Given the description of an element on the screen output the (x, y) to click on. 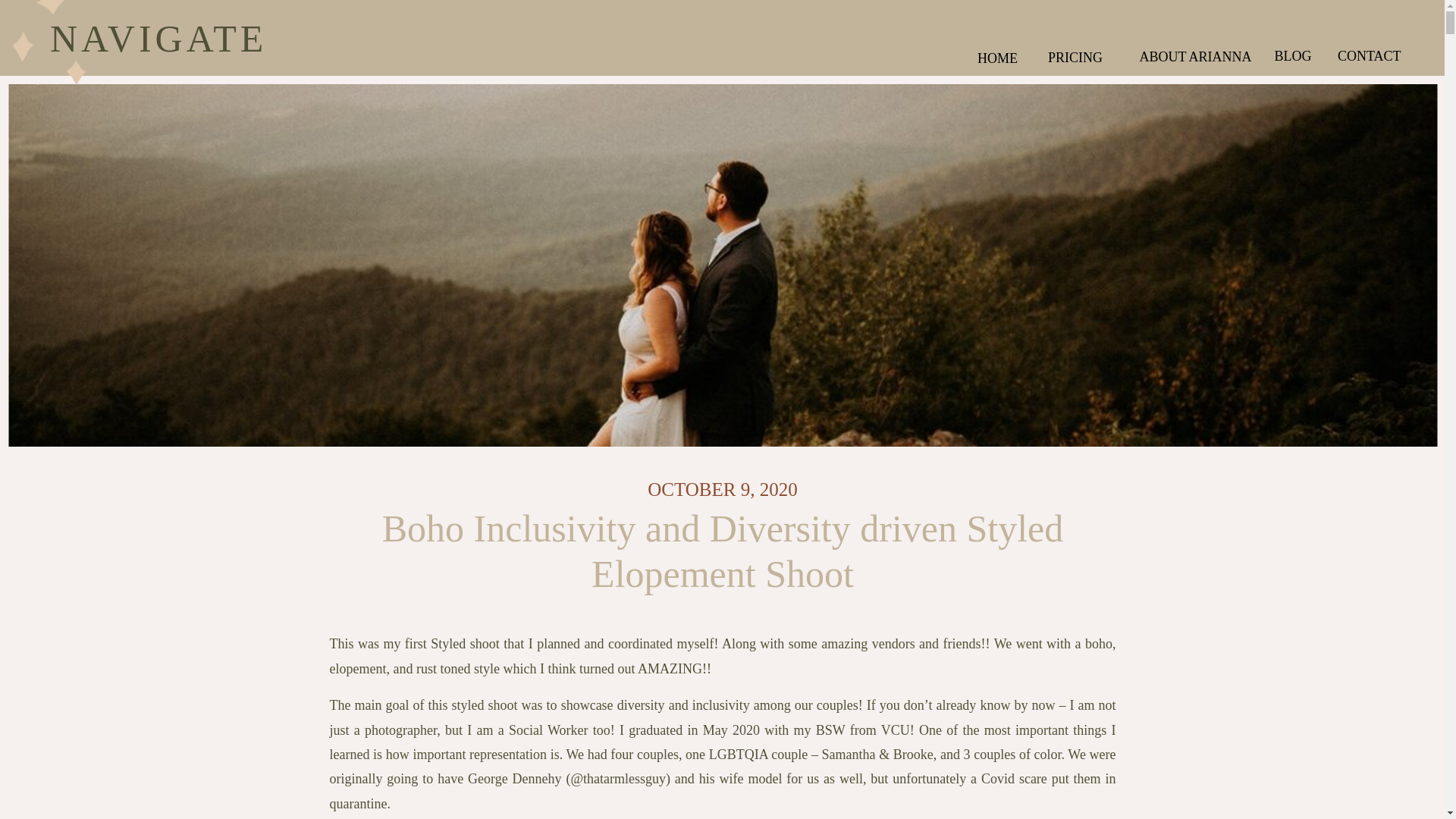
BLOG (1292, 53)
PRICING (1099, 55)
HOME (1001, 55)
ABOUT ARIANNA (1195, 54)
CONTACT (1362, 53)
